Given the description of an element on the screen output the (x, y) to click on. 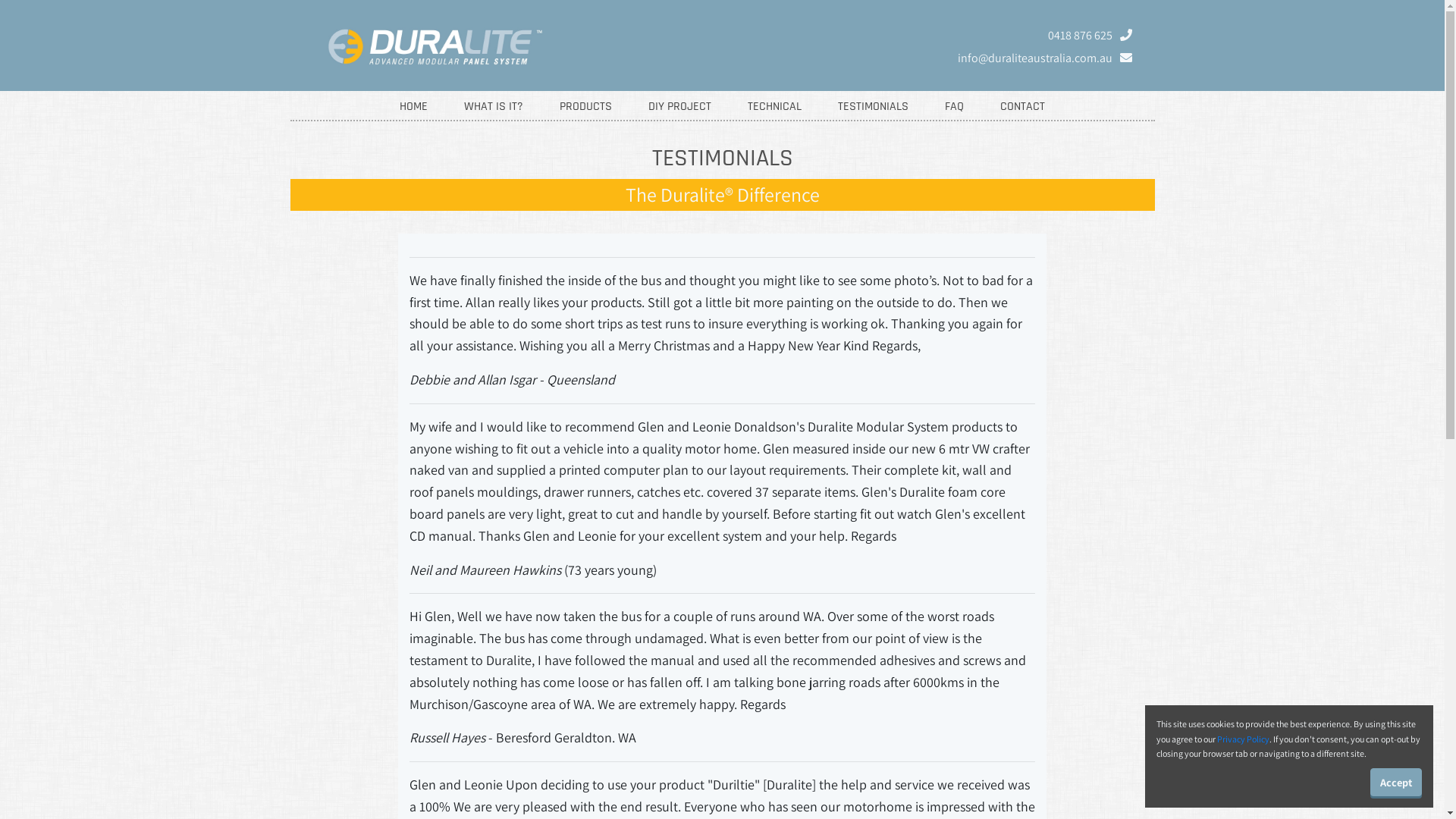
TECHNICAL Element type: text (774, 106)
PRODUCTS Element type: text (585, 106)
FAQ Element type: text (954, 106)
HOME Element type: text (413, 106)
Accept Element type: text (1395, 782)
Privacy Policy Element type: text (1243, 738)
CONTACT Element type: text (1022, 106)
0418 876 625 Element type: text (1090, 35)
Duralite Element type: text (422, 45)
info@duraliteaustralia.com.au Element type: text (1034, 57)
WHAT IS IT? Element type: text (493, 106)
TESTIMONIALS Element type: text (872, 106)
DIY PROJECT Element type: text (679, 106)
